Given the description of an element on the screen output the (x, y) to click on. 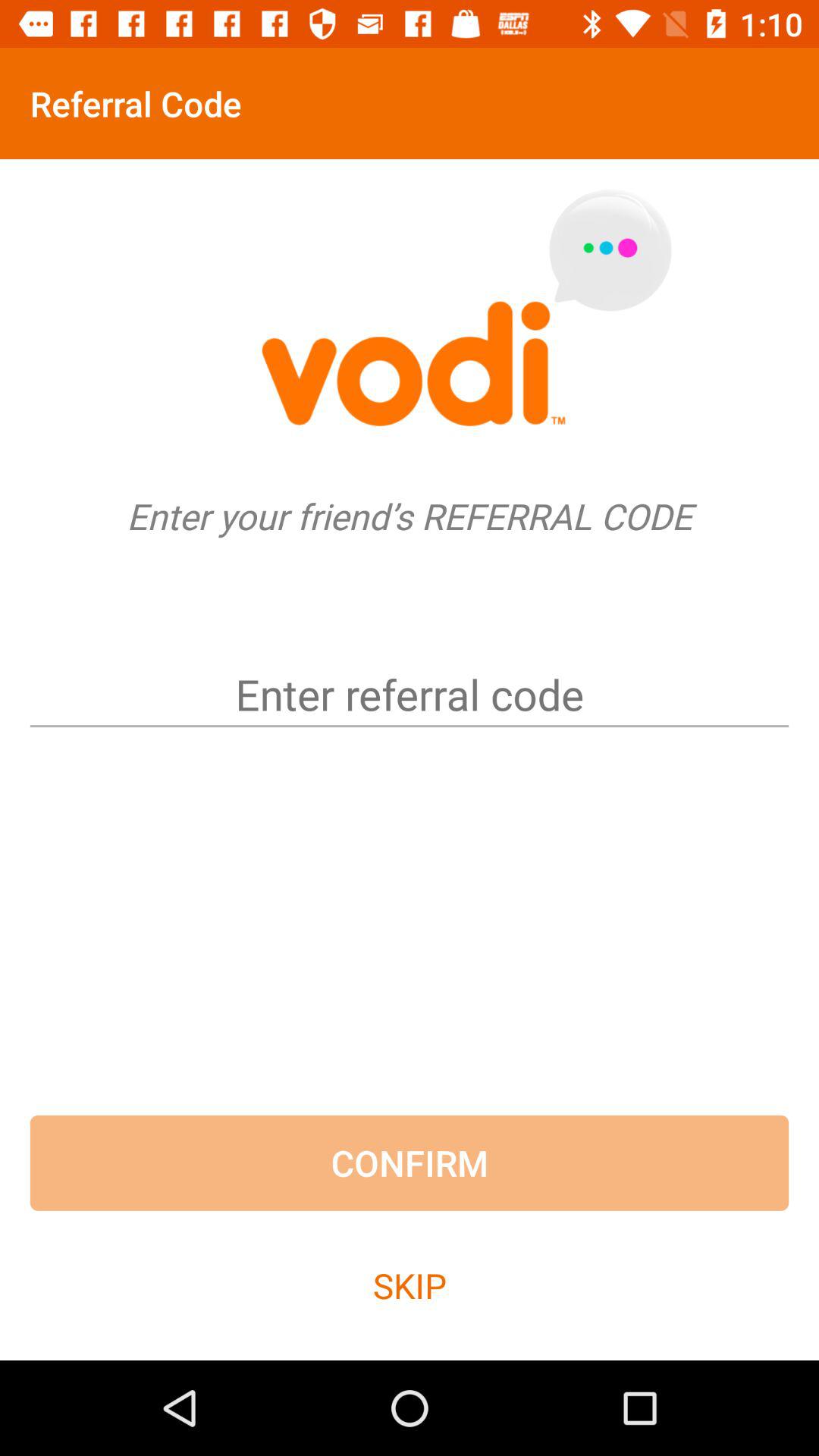
press the item above skip (409, 1162)
